Given the description of an element on the screen output the (x, y) to click on. 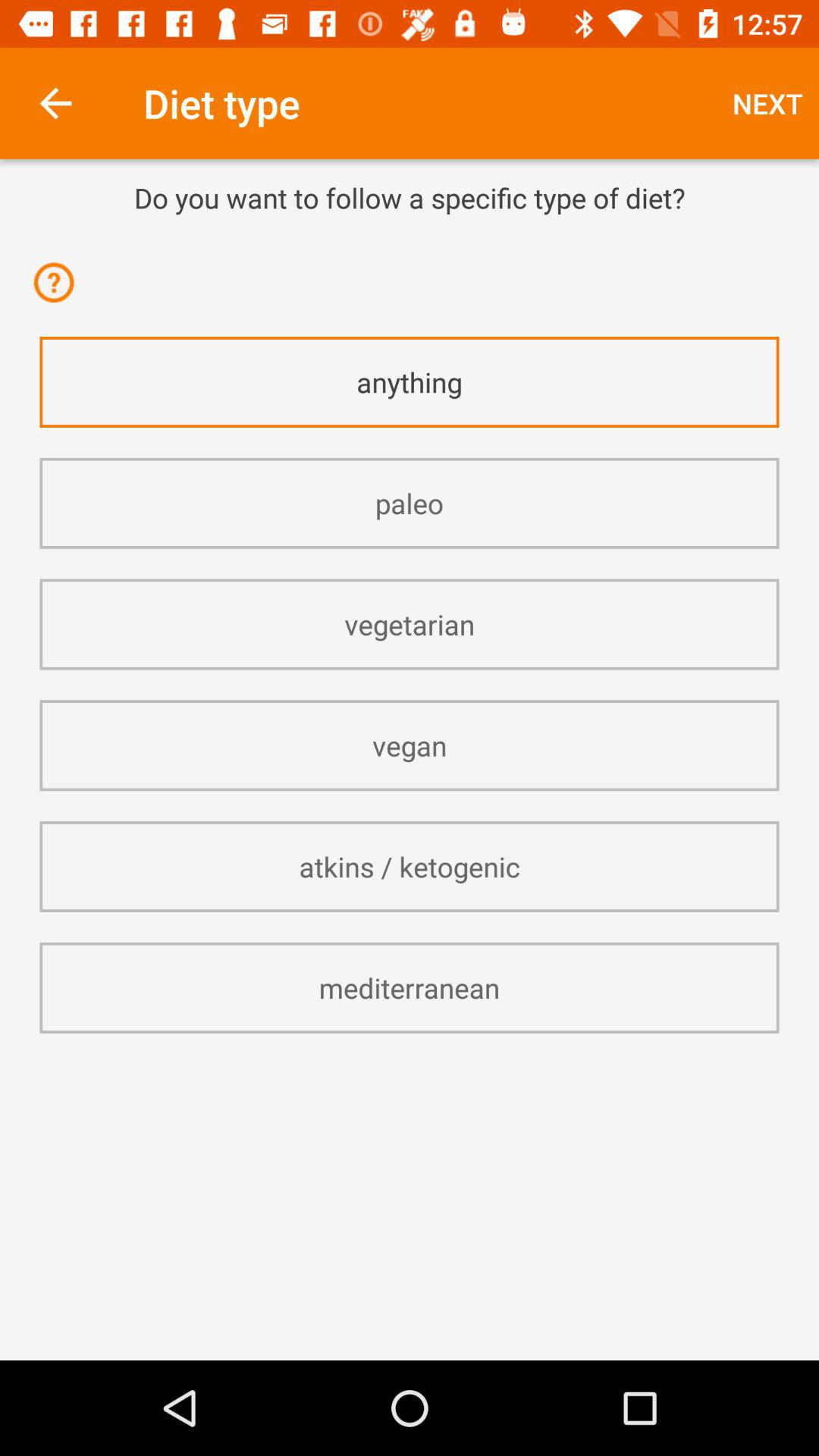
jump until atkins / ketogenic app (409, 866)
